Given the description of an element on the screen output the (x, y) to click on. 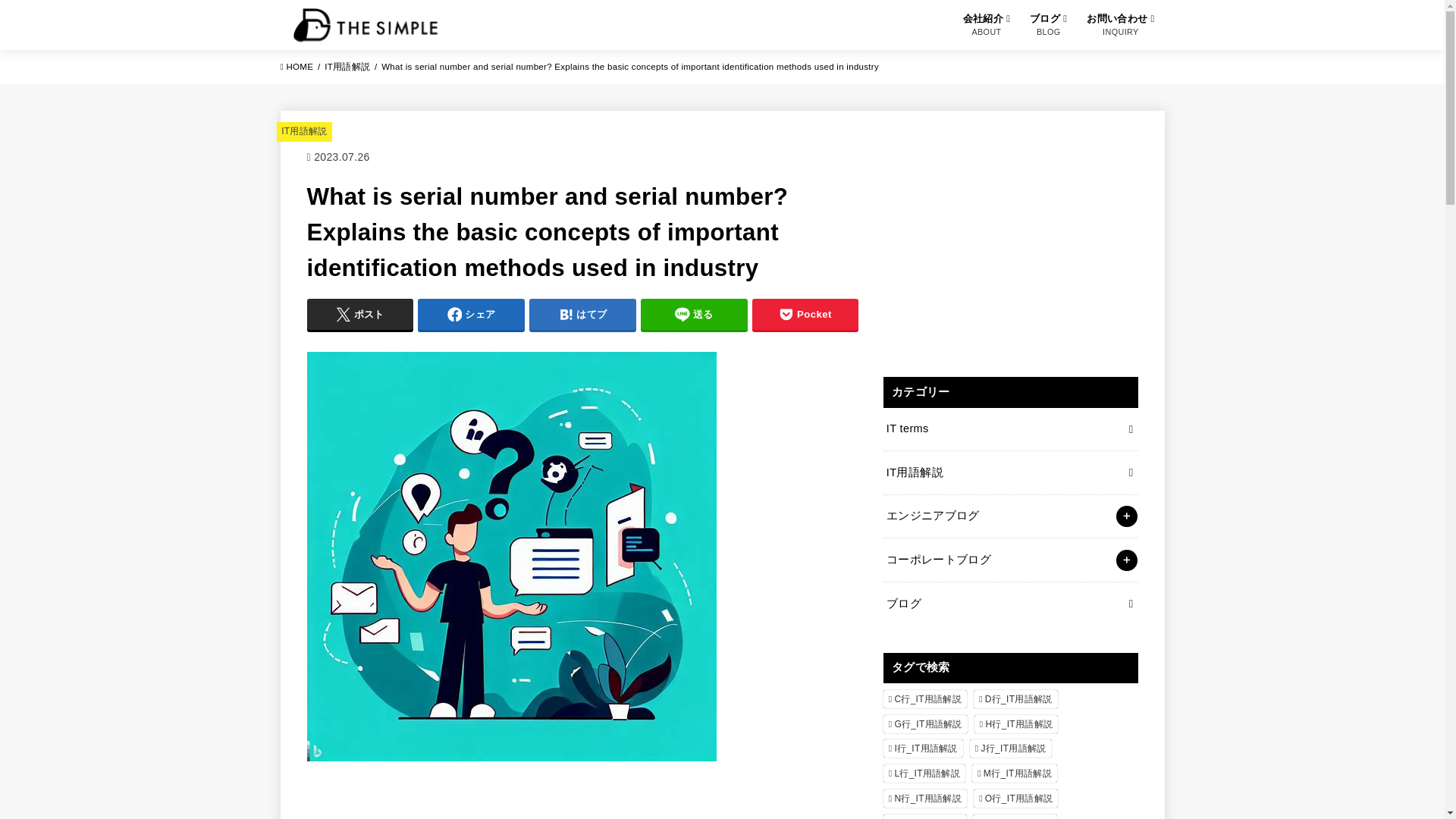
Pocket (805, 314)
Advertisement (582, 803)
Advertisement (1009, 243)
IT terms (1009, 429)
HOME (297, 67)
